Given the description of an element on the screen output the (x, y) to click on. 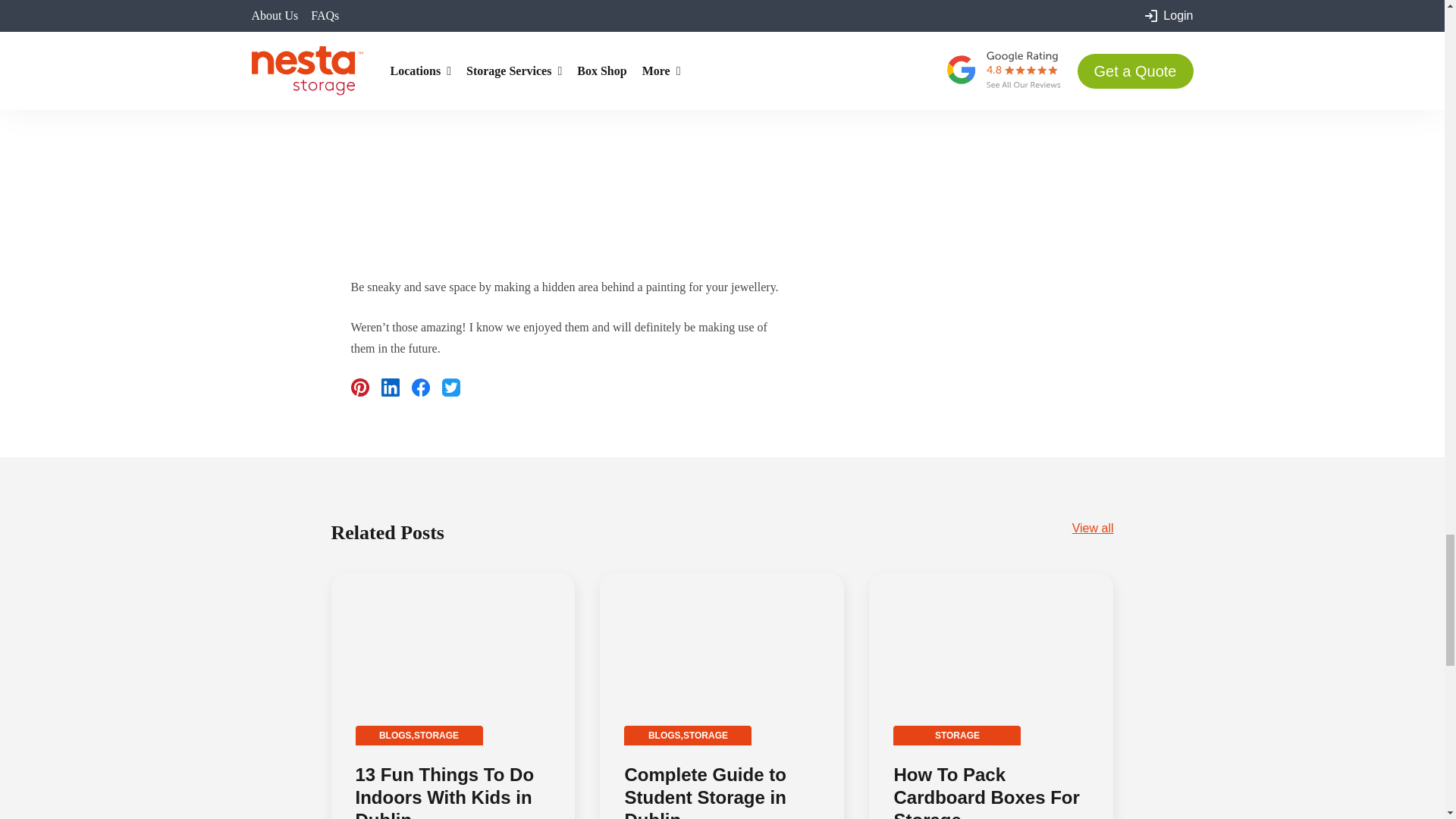
Storage (435, 735)
Storage (705, 735)
Blogs (664, 735)
Blogs (395, 735)
Storage (956, 735)
